Given the description of an element on the screen output the (x, y) to click on. 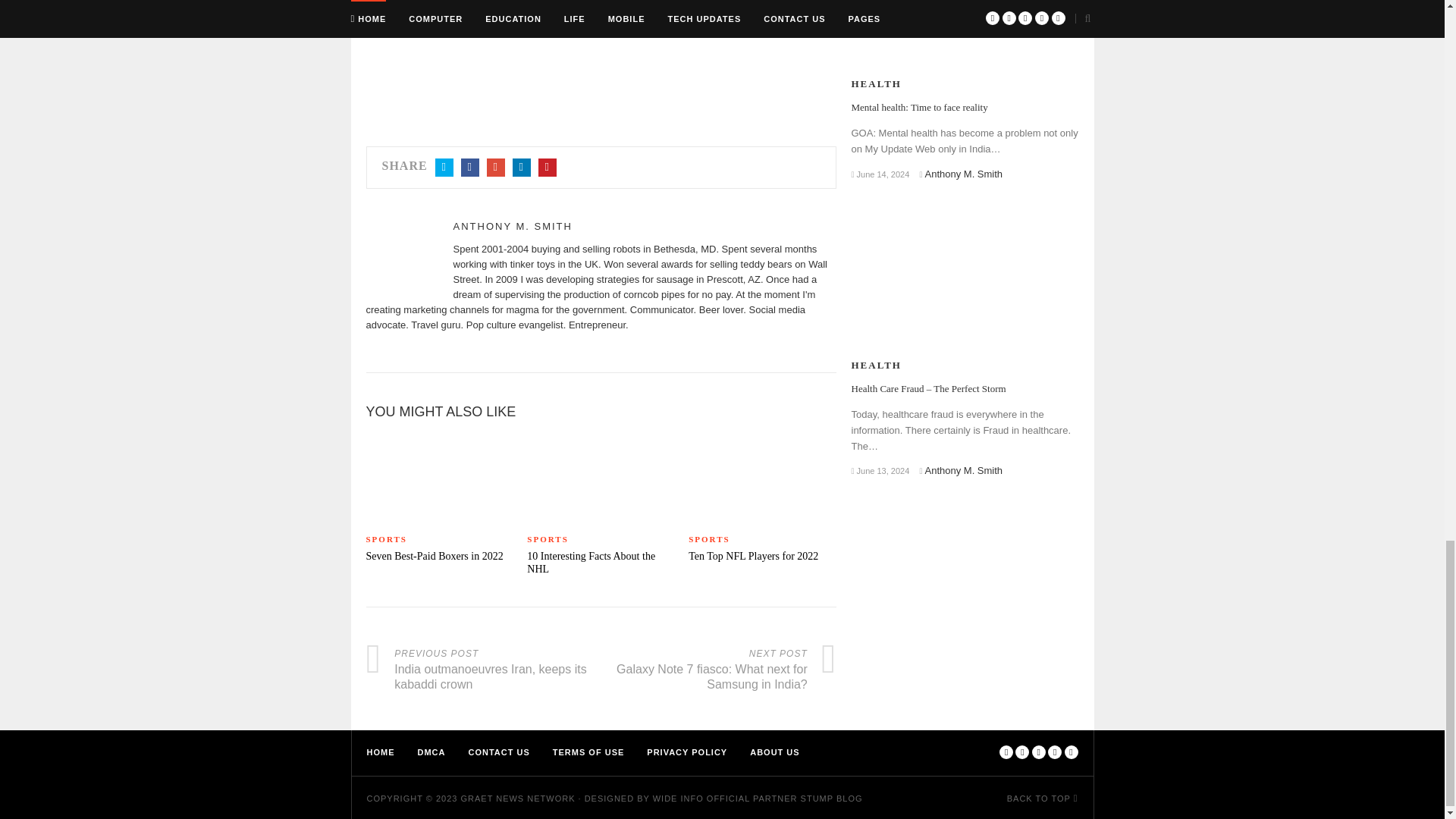
Advertisement (600, 58)
Seven Best-Paid Boxers in 2022 1 (438, 477)
10 Interesting Facts About the NHL 2 (600, 477)
